Given the description of an element on the screen output the (x, y) to click on. 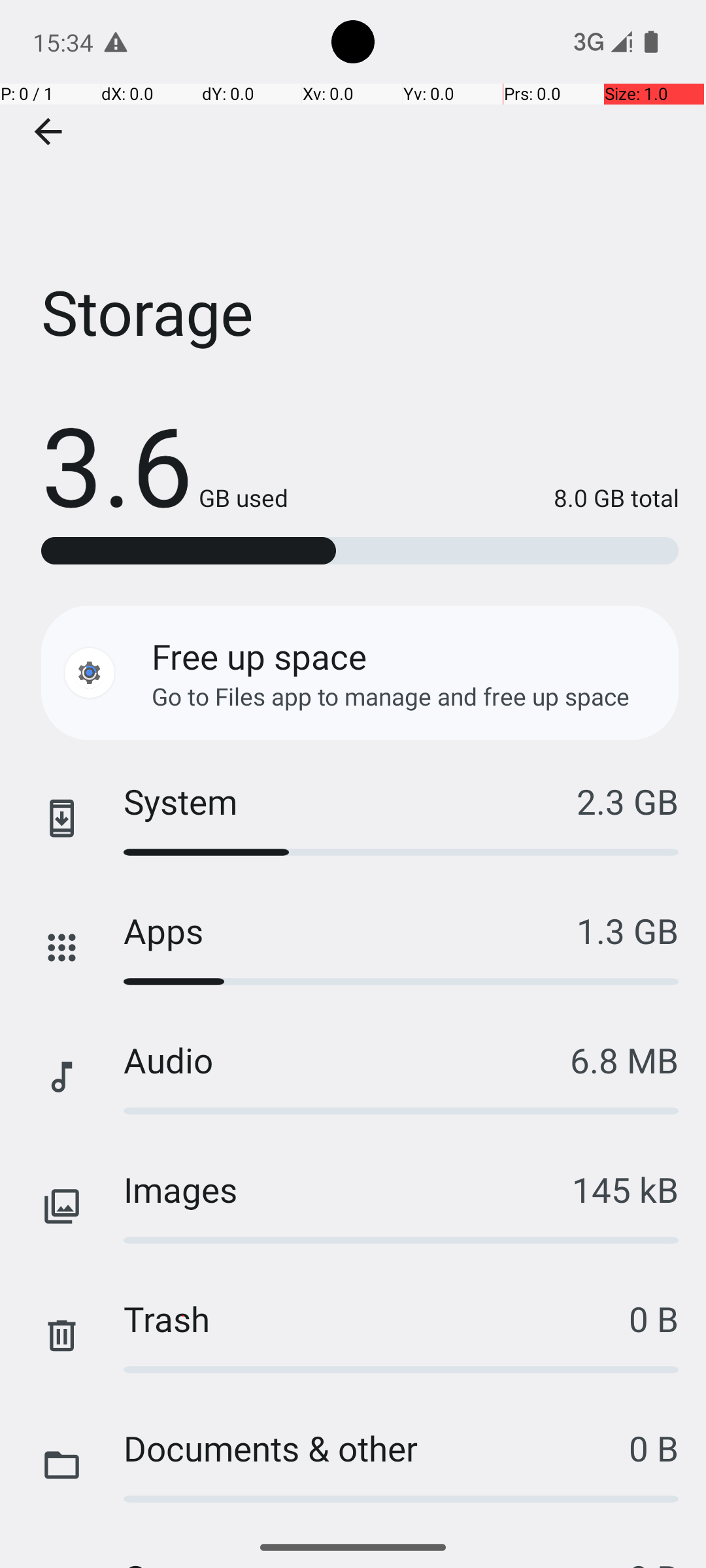
3.6 GB used Element type: android.widget.TextView (164, 463)
8.0 GB total Element type: android.widget.TextView (483, 497)
Free up space Element type: android.widget.TextView (258, 656)
Go to Files app to manage and free up space Element type: android.widget.TextView (390, 695)
2.3 GB Element type: android.widget.TextView (627, 801)
1.3 GB Element type: android.widget.TextView (627, 930)
6.8 MB Element type: android.widget.TextView (624, 1059)
145 kB Element type: android.widget.TextView (624, 1189)
Trash Element type: android.widget.TextView (375, 1318)
0 B Element type: android.widget.TextView (653, 1318)
Documents & other Element type: android.widget.TextView (375, 1447)
